Given the description of an element on the screen output the (x, y) to click on. 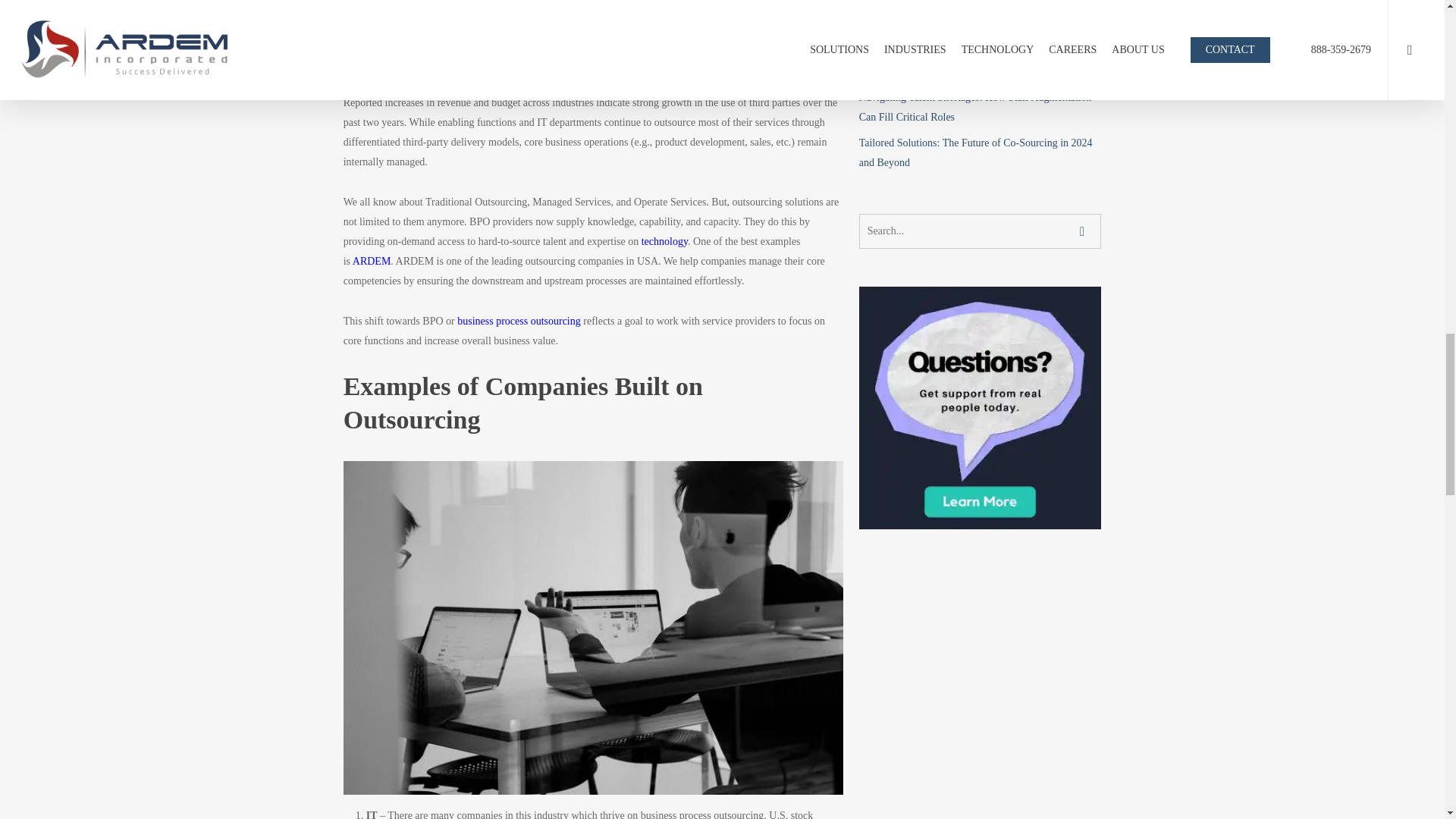
Search for: (980, 230)
